Given the description of an element on the screen output the (x, y) to click on. 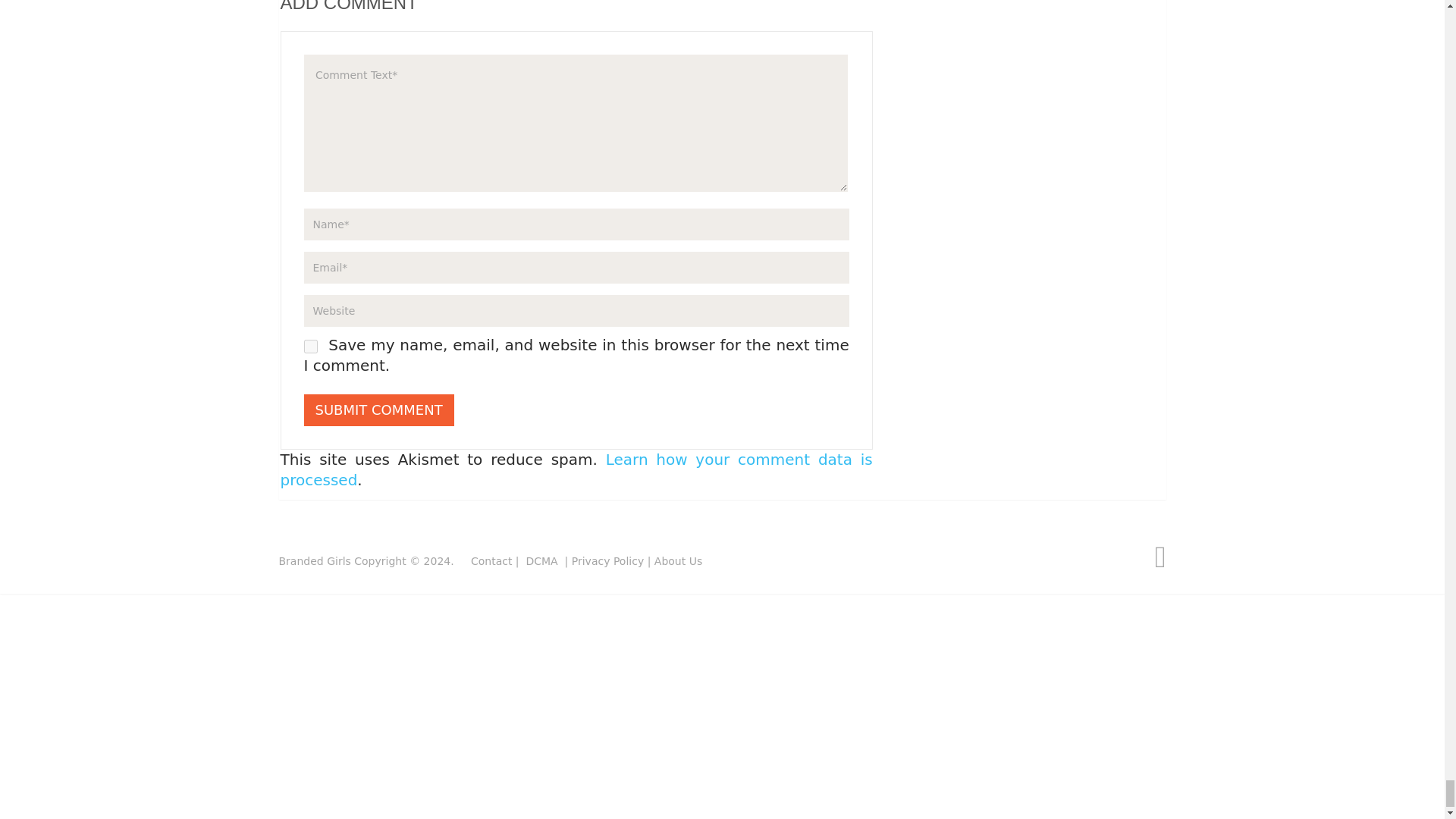
Submit Comment (377, 409)
yes (309, 345)
